Given the description of an element on the screen output the (x, y) to click on. 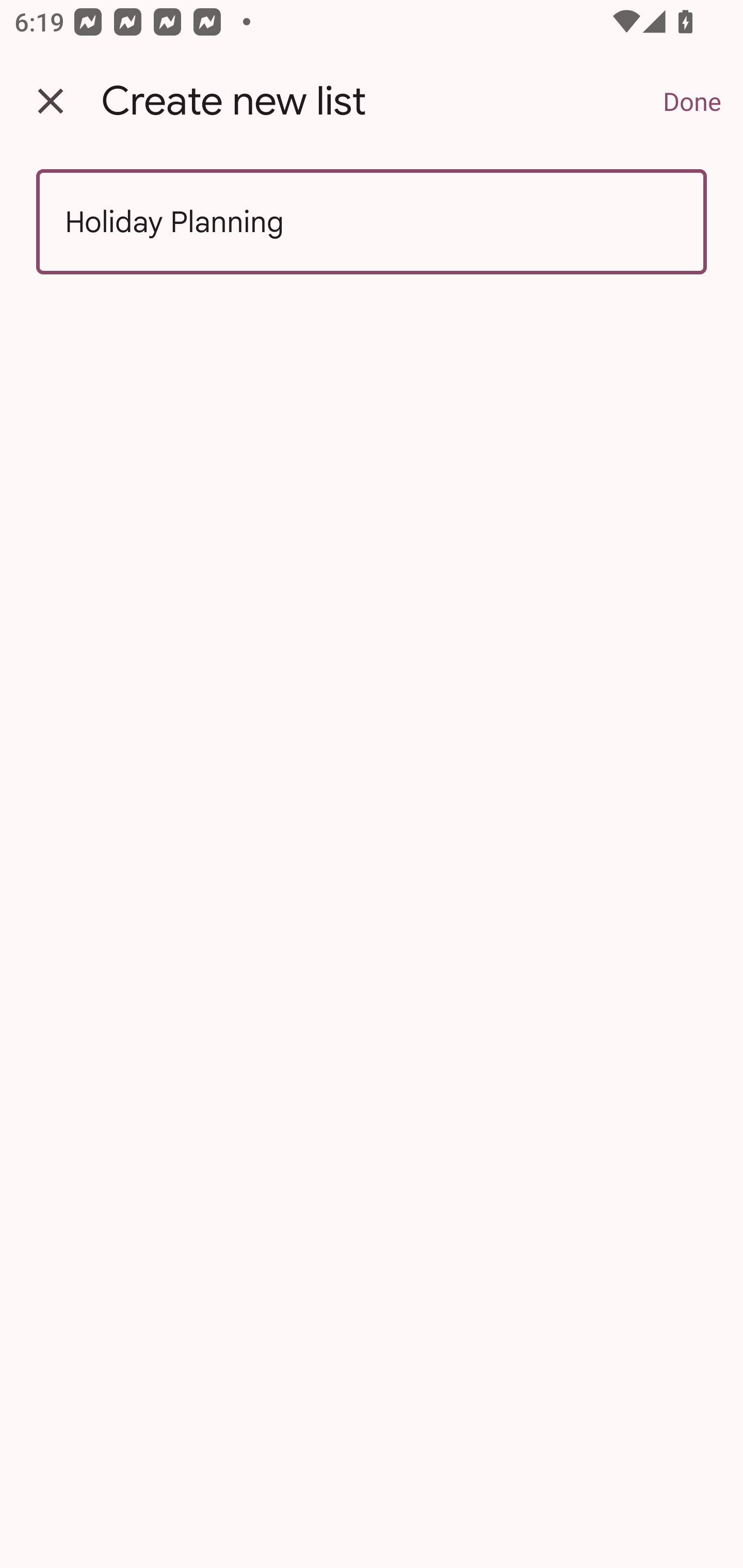
Back (50, 101)
Done (692, 101)
Holiday Planning (371, 221)
